Given the description of an element on the screen output the (x, y) to click on. 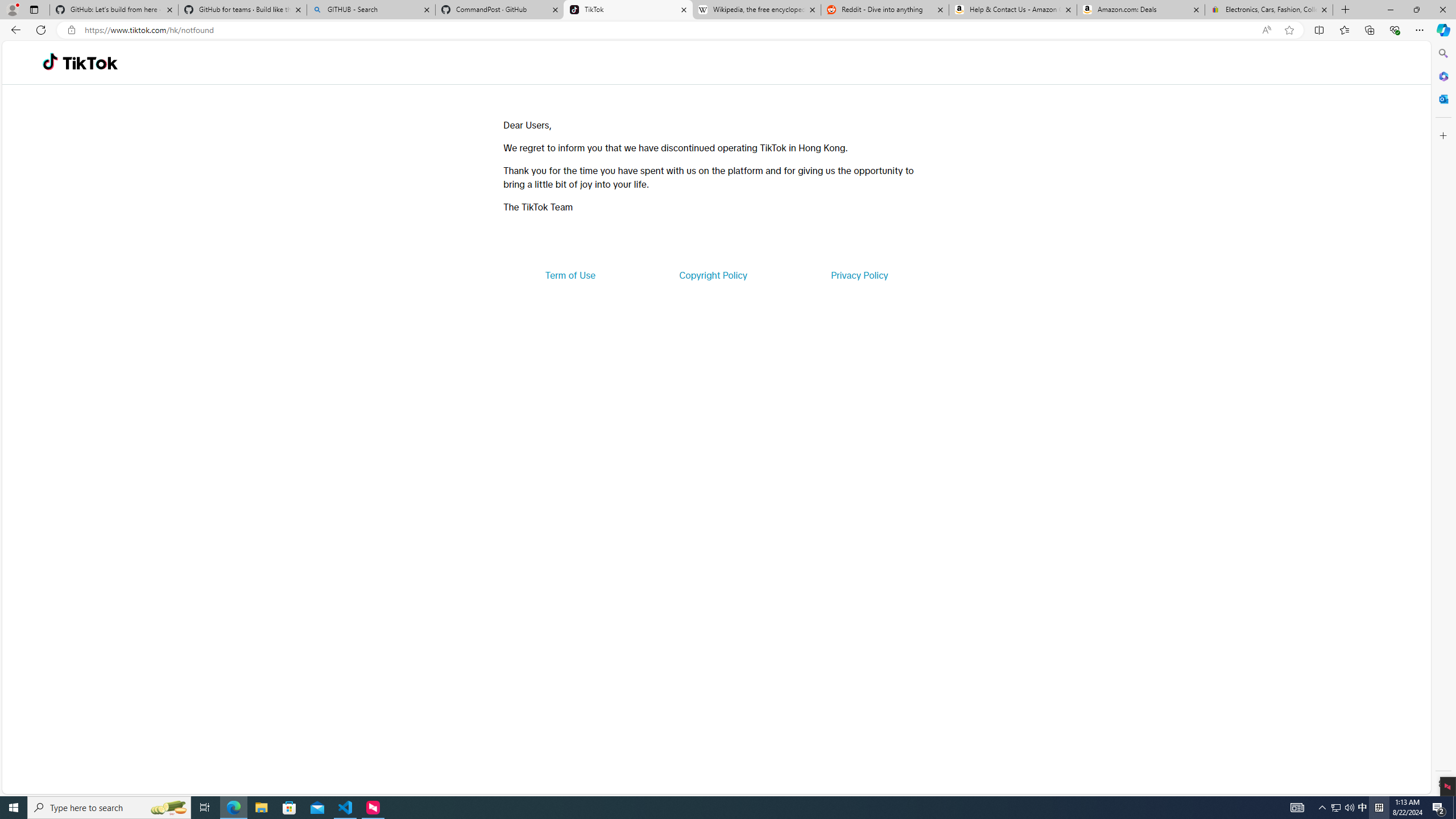
Copyright Policy (712, 274)
Help & Contact Us - Amazon Customer Service (1012, 9)
Privacy Policy (858, 274)
